Given the description of an element on the screen output the (x, y) to click on. 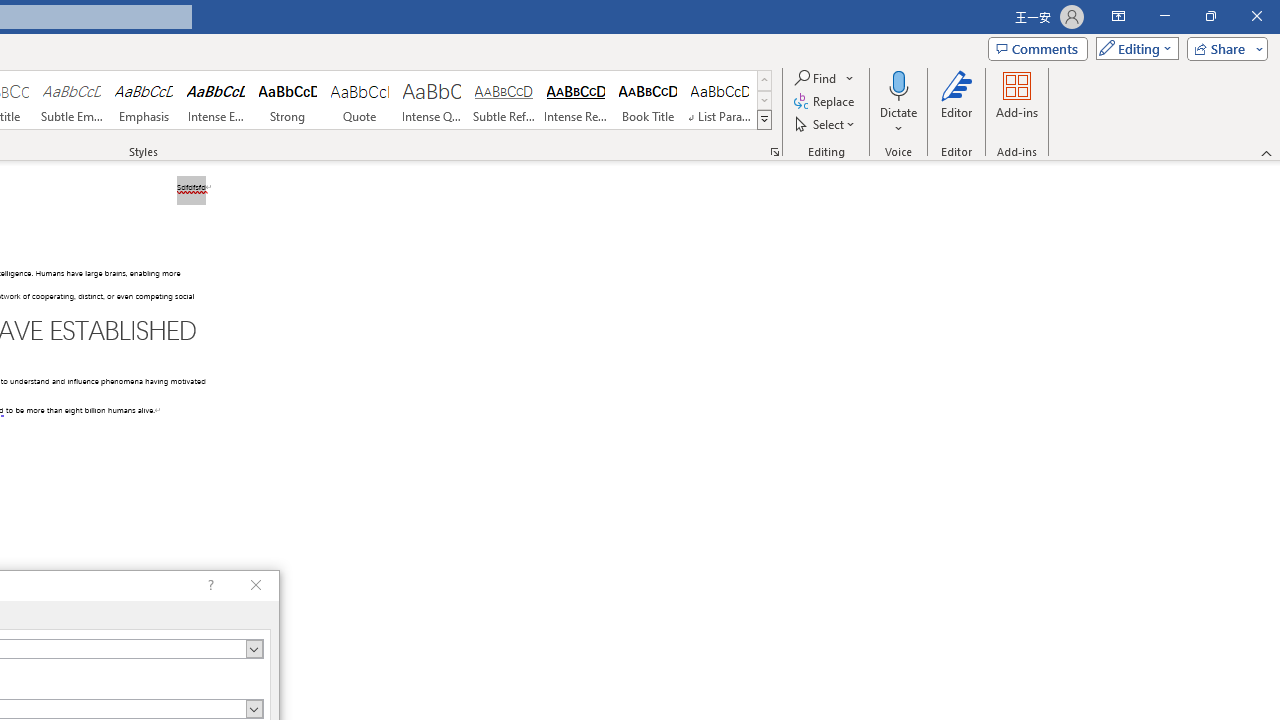
Row Down (763, 100)
Emphasis (143, 100)
